Given the description of an element on the screen output the (x, y) to click on. 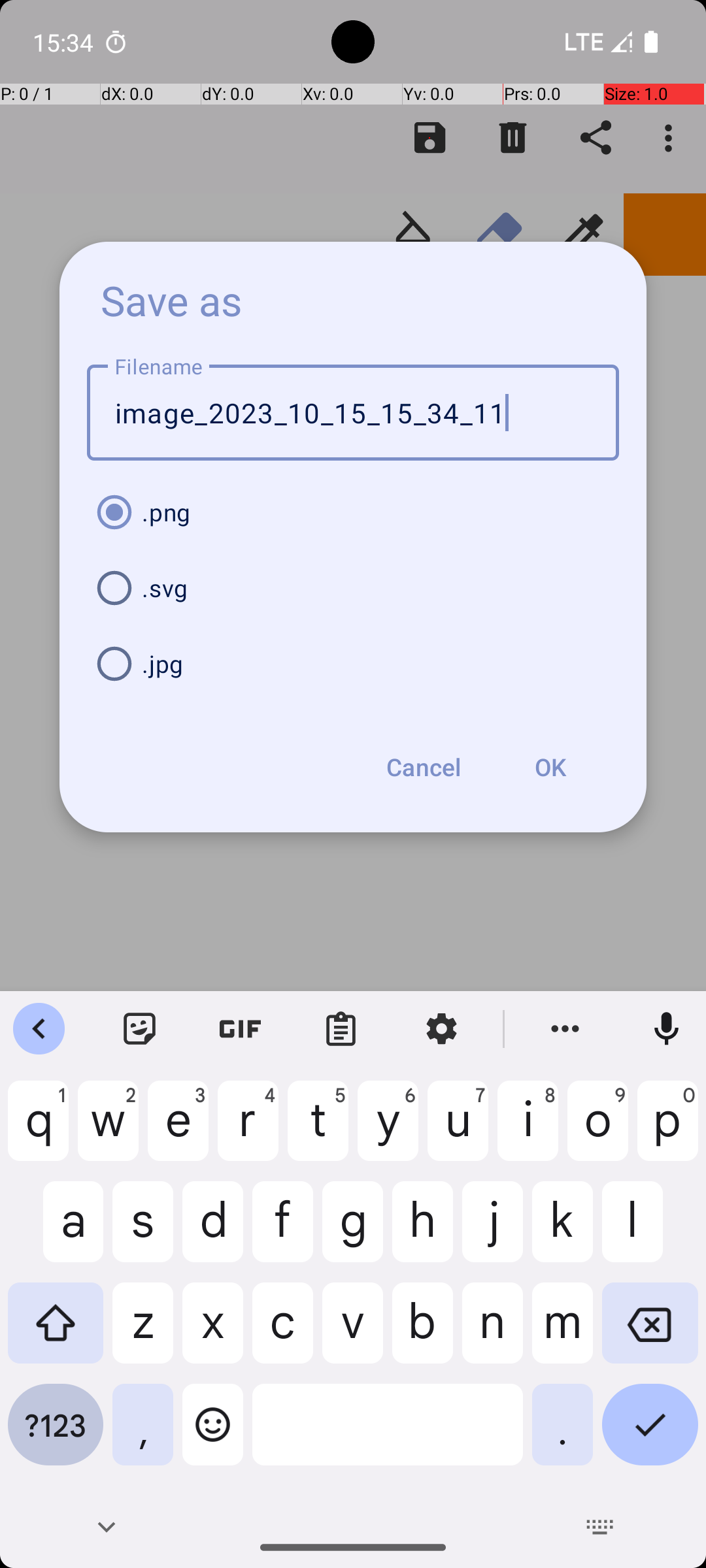
Save as Element type: android.widget.TextView (171, 299)
image_2023_10_15_15_34_11 Element type: android.widget.EditText (352, 412)
.png Element type: android.widget.RadioButton (352, 512)
.svg Element type: android.widget.RadioButton (352, 587)
.jpg Element type: android.widget.RadioButton (352, 663)
